Given the description of an element on the screen output the (x, y) to click on. 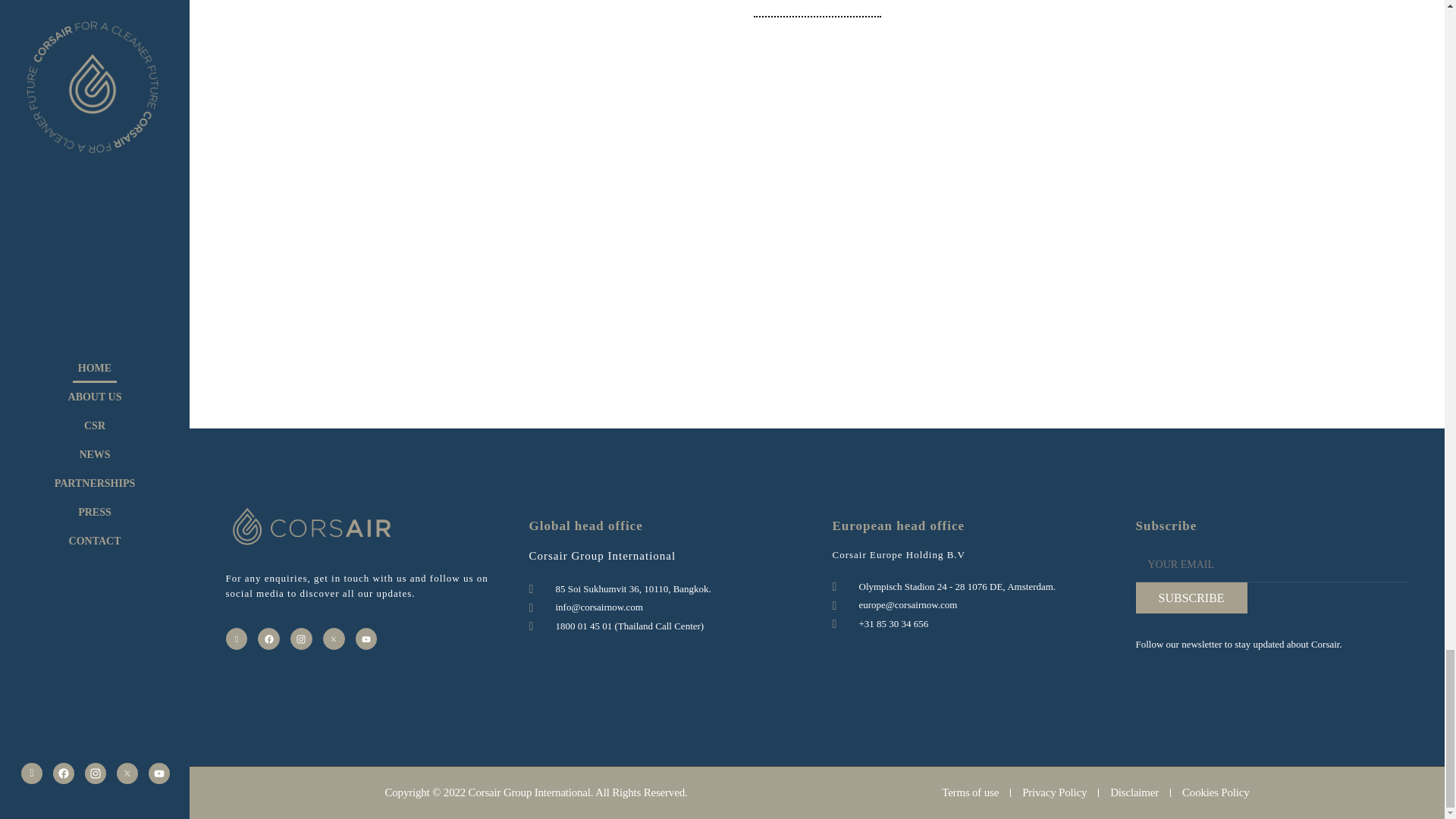
Subscribe (1191, 597)
